Given the description of an element on the screen output the (x, y) to click on. 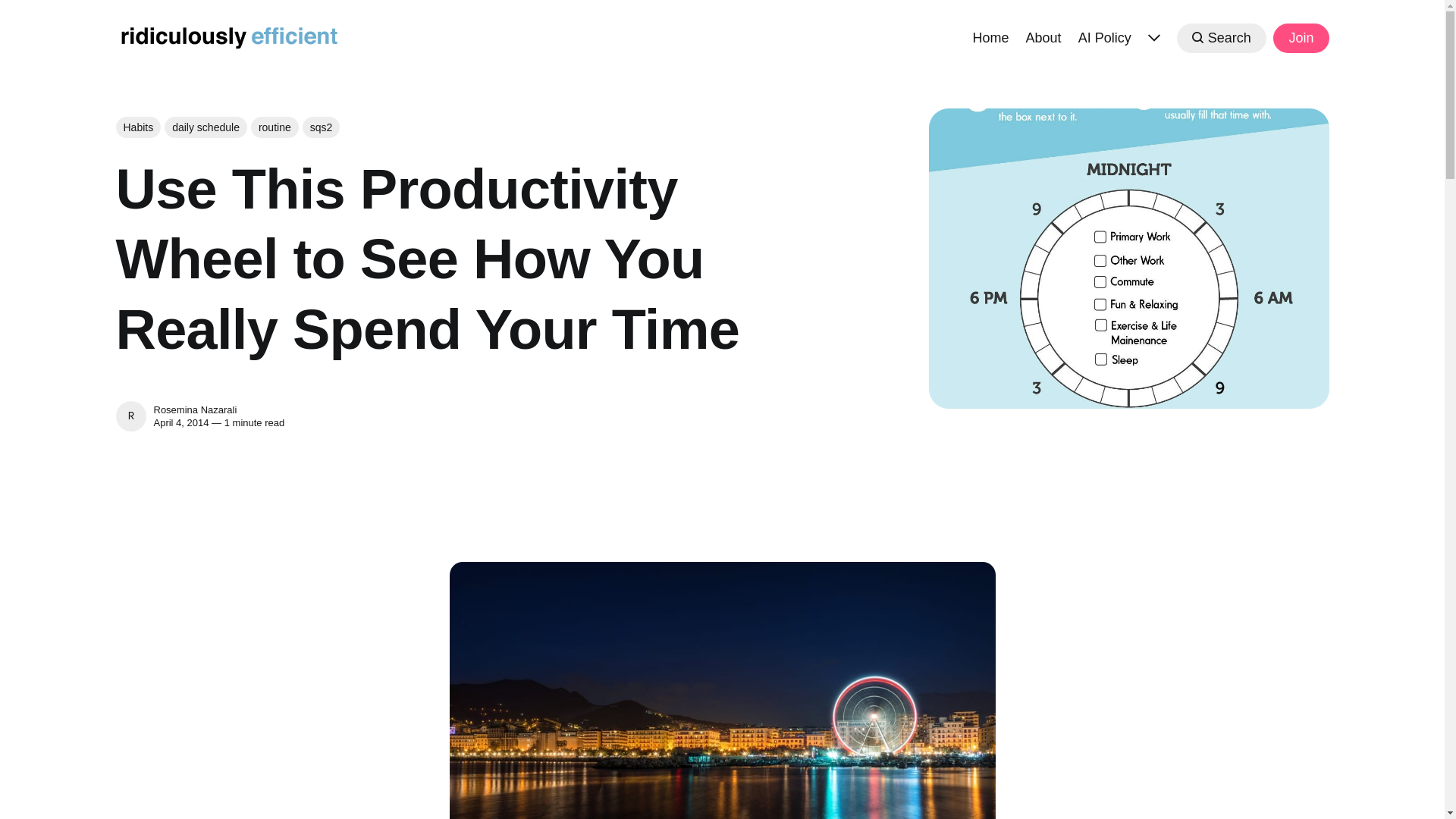
AI Policy (1104, 37)
Home (990, 37)
Habits (137, 127)
Join (1299, 37)
About (1043, 37)
sqs2 (321, 127)
routine (274, 127)
daily schedule (205, 127)
Rosemina Nazarali (130, 416)
Rosemina Nazarali (193, 409)
